Given the description of an element on the screen output the (x, y) to click on. 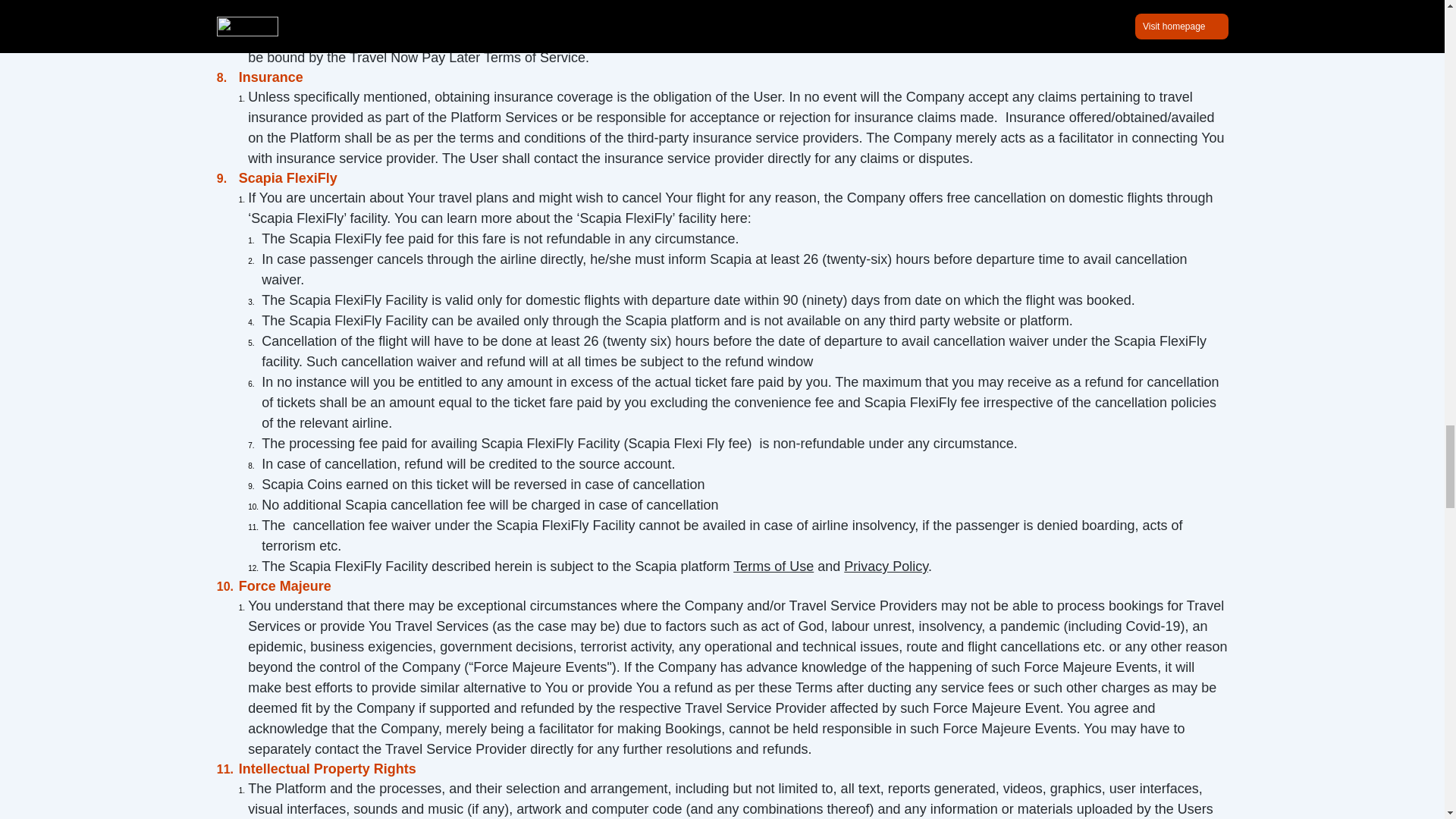
here (641, 37)
Terms of Use (773, 566)
Privacy Policy (886, 566)
